Given the description of an element on the screen output the (x, y) to click on. 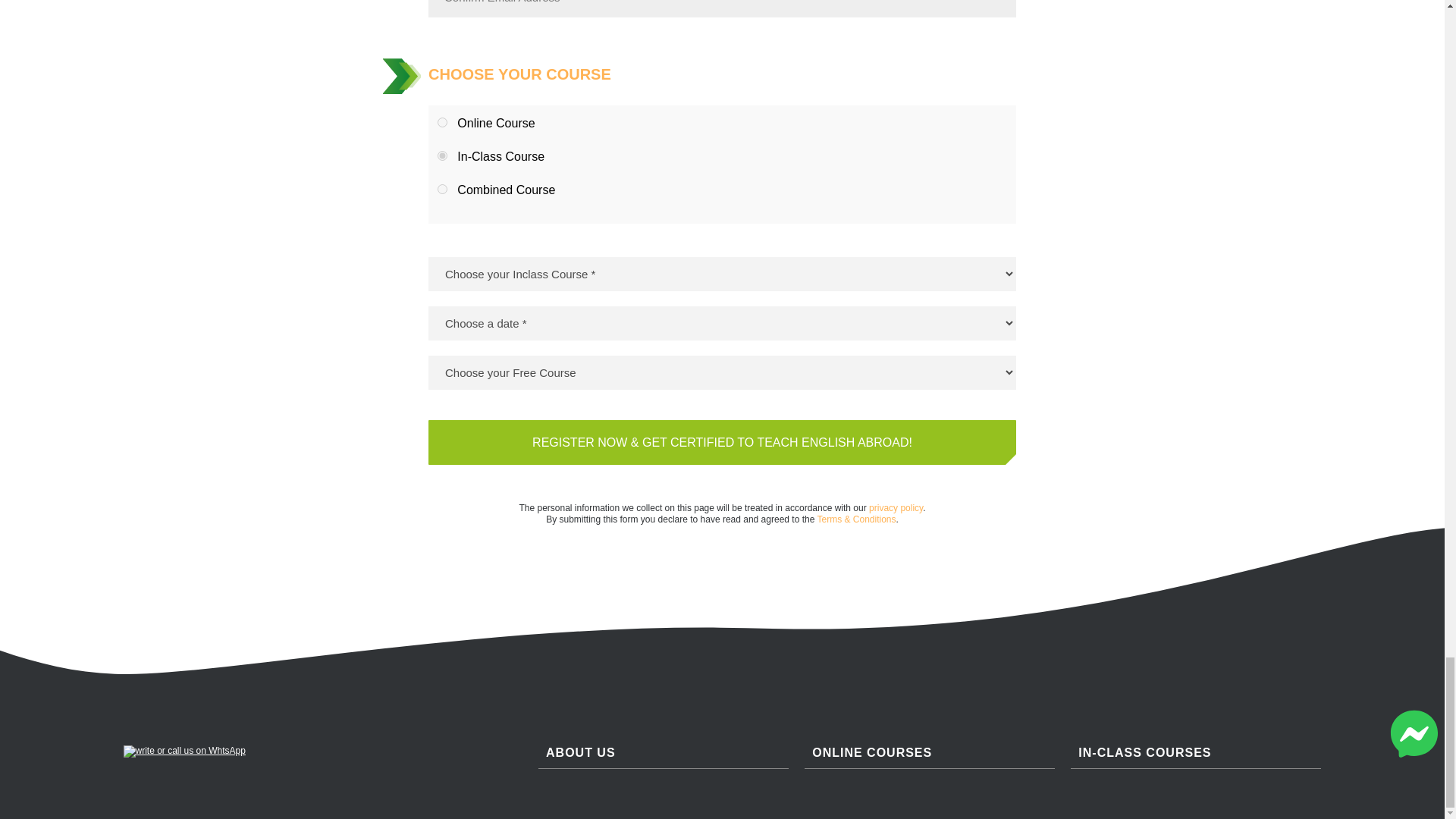
Online Course (442, 122)
Combined Course (442, 189)
Intensive Course (442, 155)
